Given the description of an element on the screen output the (x, y) to click on. 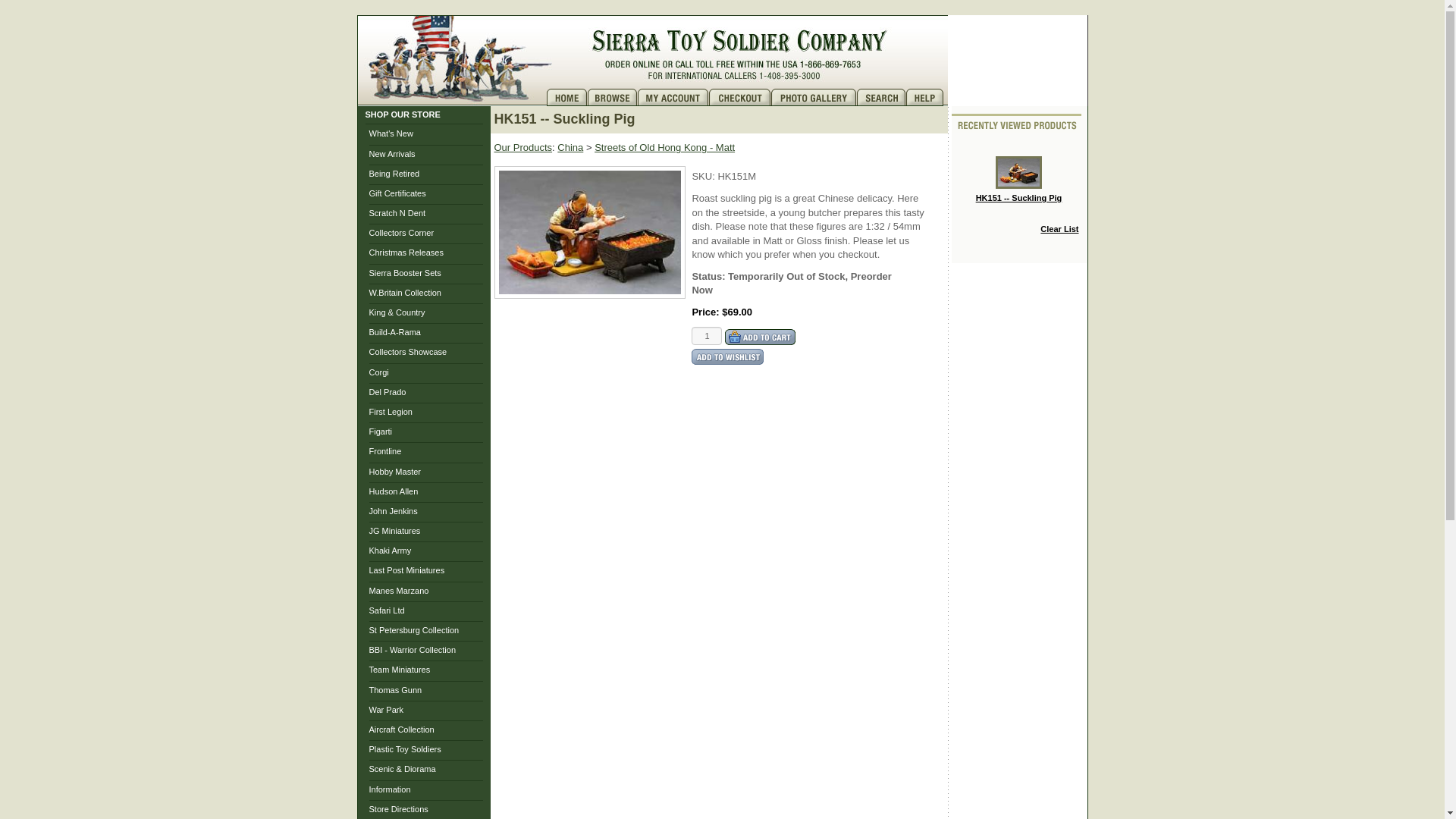
First Legion (390, 411)
Manes Marzano (398, 590)
SHOP OUR STORE (403, 113)
Last Post Miniatures (406, 569)
What's New (390, 133)
St Petersburg Collection (413, 629)
JG Miniatures (394, 530)
1 (706, 335)
New Arrivals (391, 153)
Collectors Showcase (407, 351)
